Given the description of an element on the screen output the (x, y) to click on. 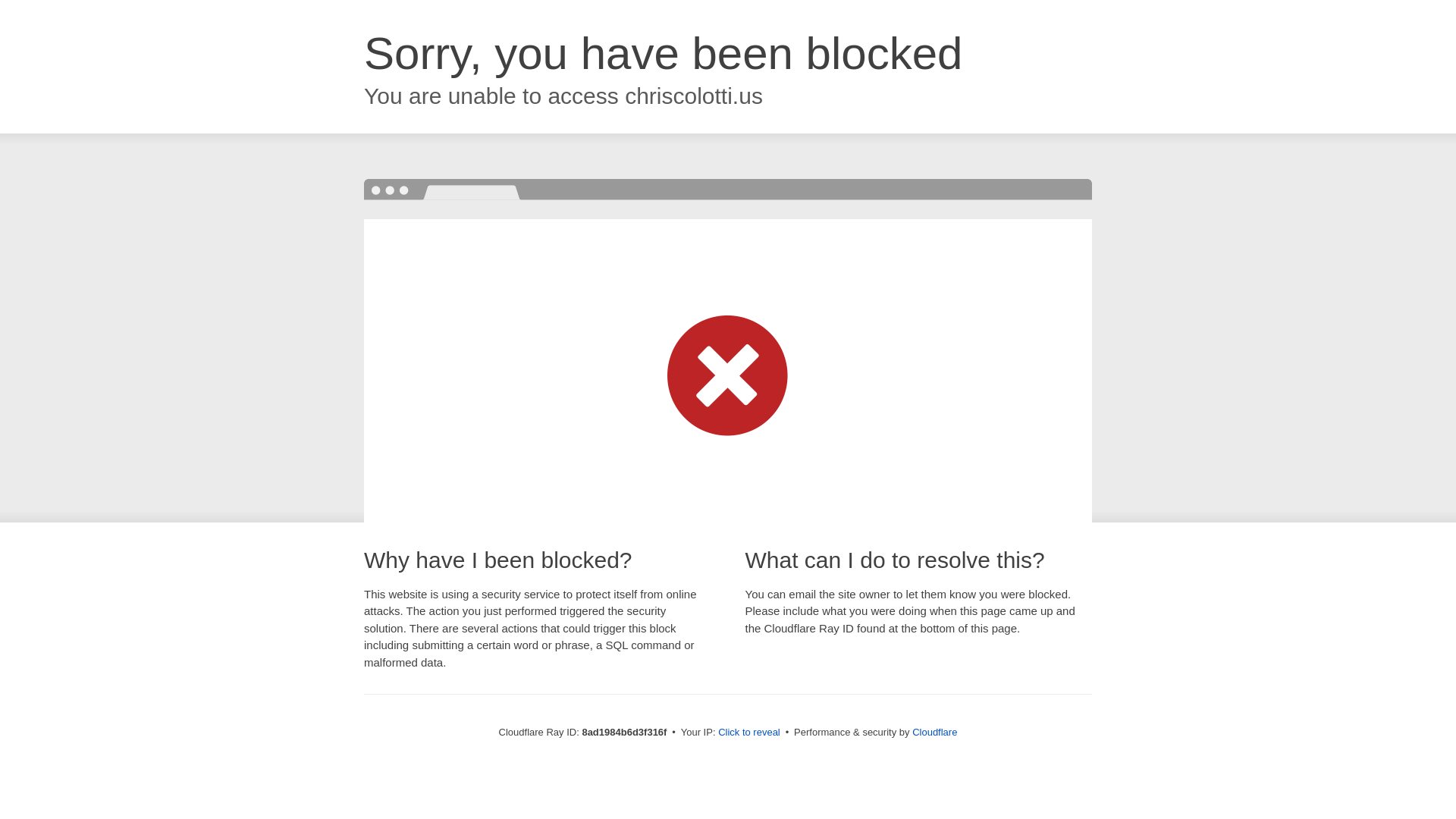
Cloudflare (934, 731)
Click to reveal (748, 732)
